Given the description of an element on the screen output the (x, y) to click on. 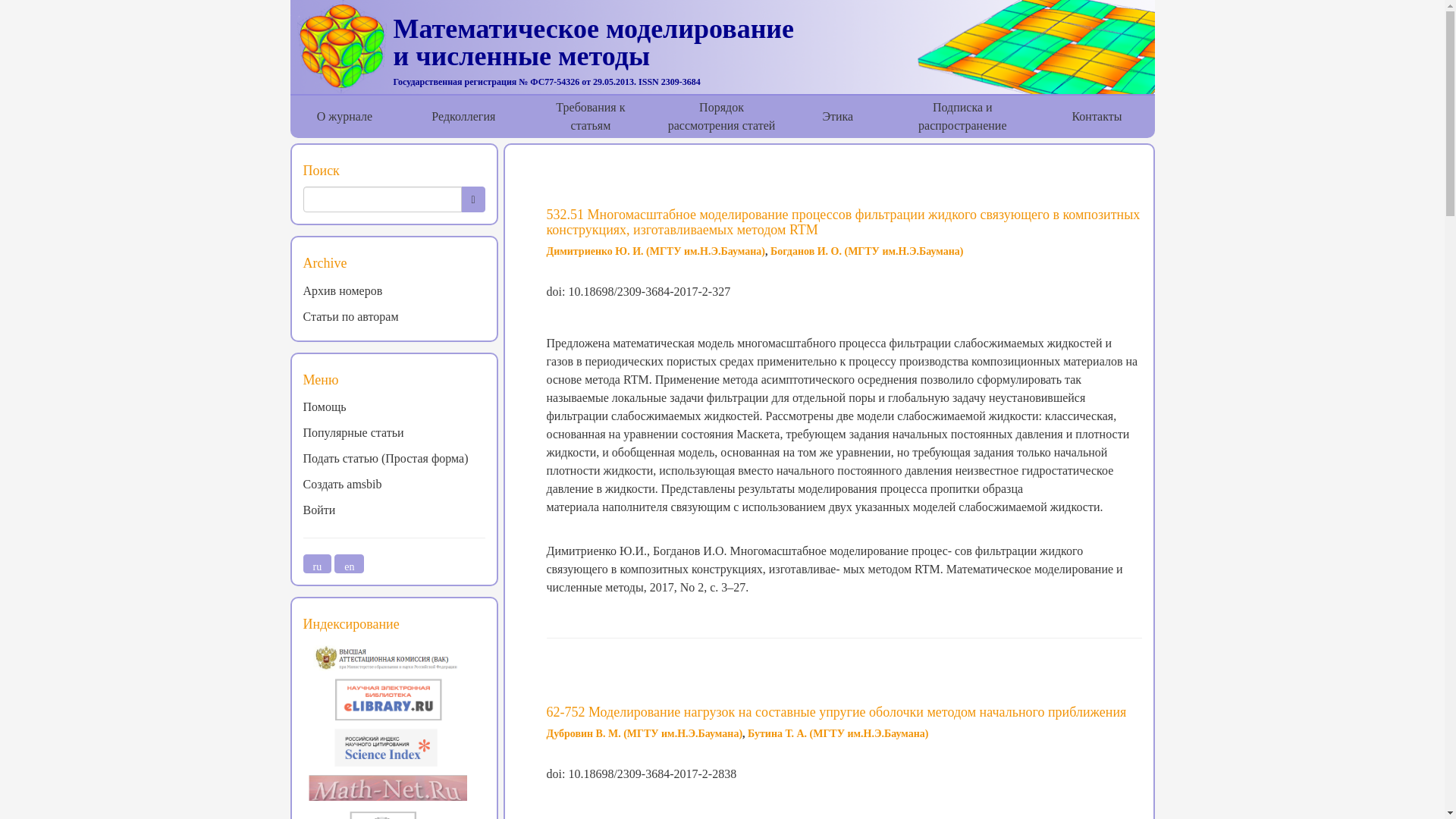
en (349, 563)
en (349, 563)
ru (316, 563)
ru (316, 563)
